Given the description of an element on the screen output the (x, y) to click on. 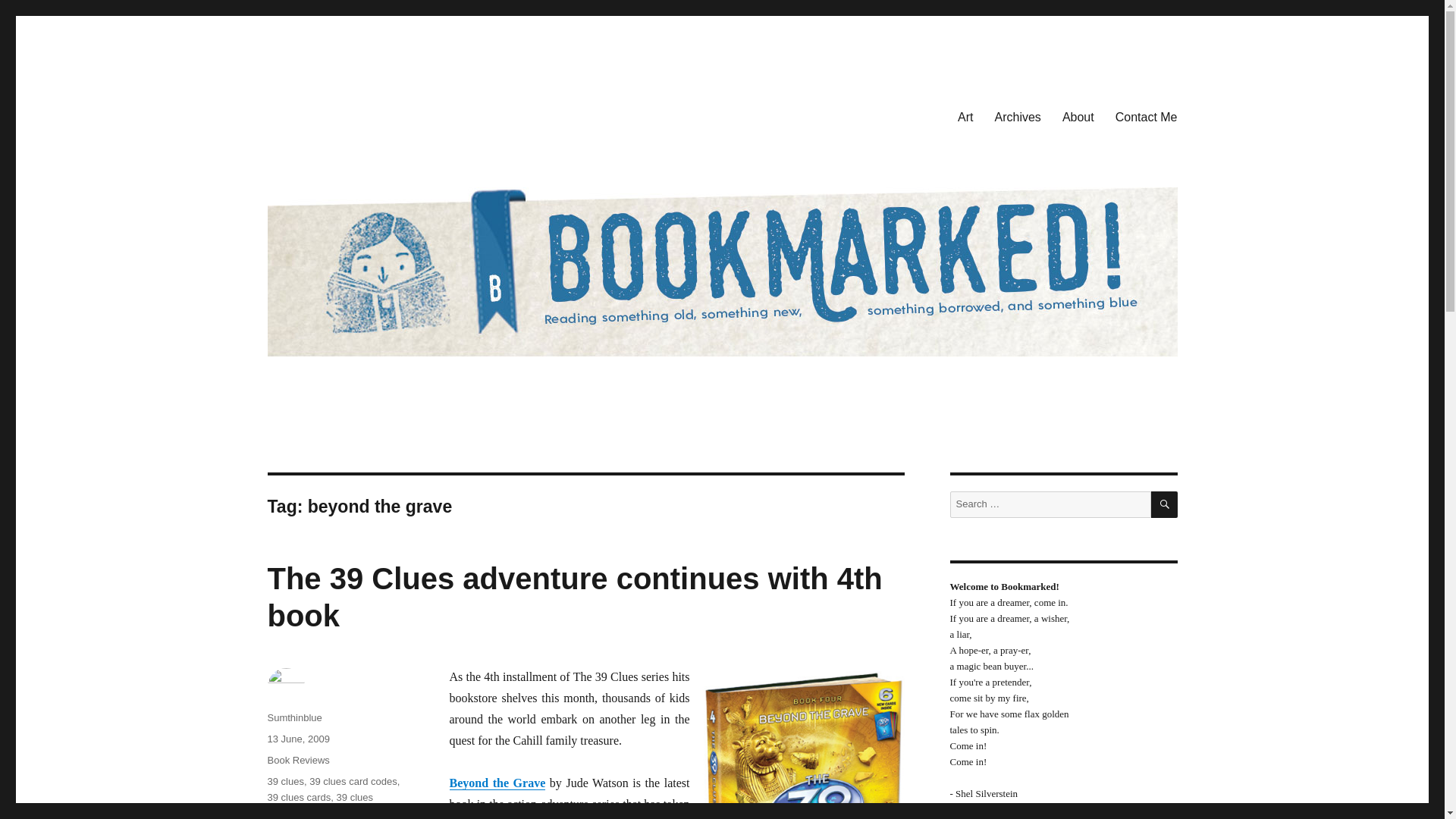
39 clues codes (319, 805)
About (1078, 116)
Art (965, 116)
Sumthinblue (293, 717)
39 clues (284, 781)
13 June, 2009 (297, 738)
Bookmarked! (334, 114)
Contact Me (1146, 116)
39 clues card codes (352, 781)
Archives (1017, 116)
